Given the description of an element on the screen output the (x, y) to click on. 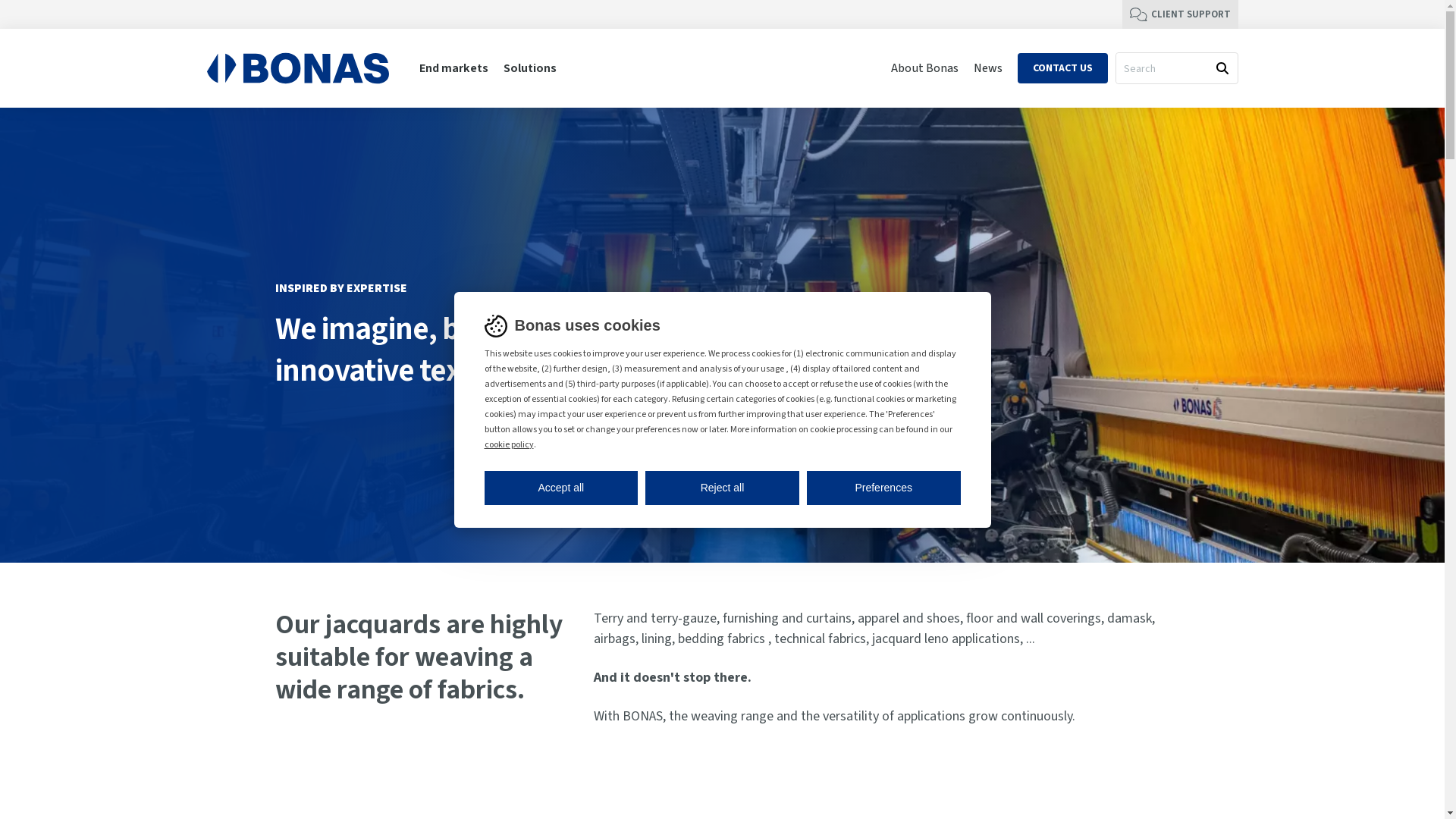
End markets Element type: text (452, 68)
About Bonas Element type: text (923, 68)
Navigate to homepage Element type: hover (297, 67)
CONTACT US Element type: text (1062, 68)
Save my preferences Element type: text (497, 479)
Reject all Element type: text (722, 487)
CLIENT SUPPORT Element type: text (1180, 14)
Preferences Element type: text (883, 487)
News Element type: text (987, 68)
cookie policy Element type: text (508, 444)
Solutions Element type: text (529, 68)
Accept all Element type: text (560, 487)
